Given the description of an element on the screen output the (x, y) to click on. 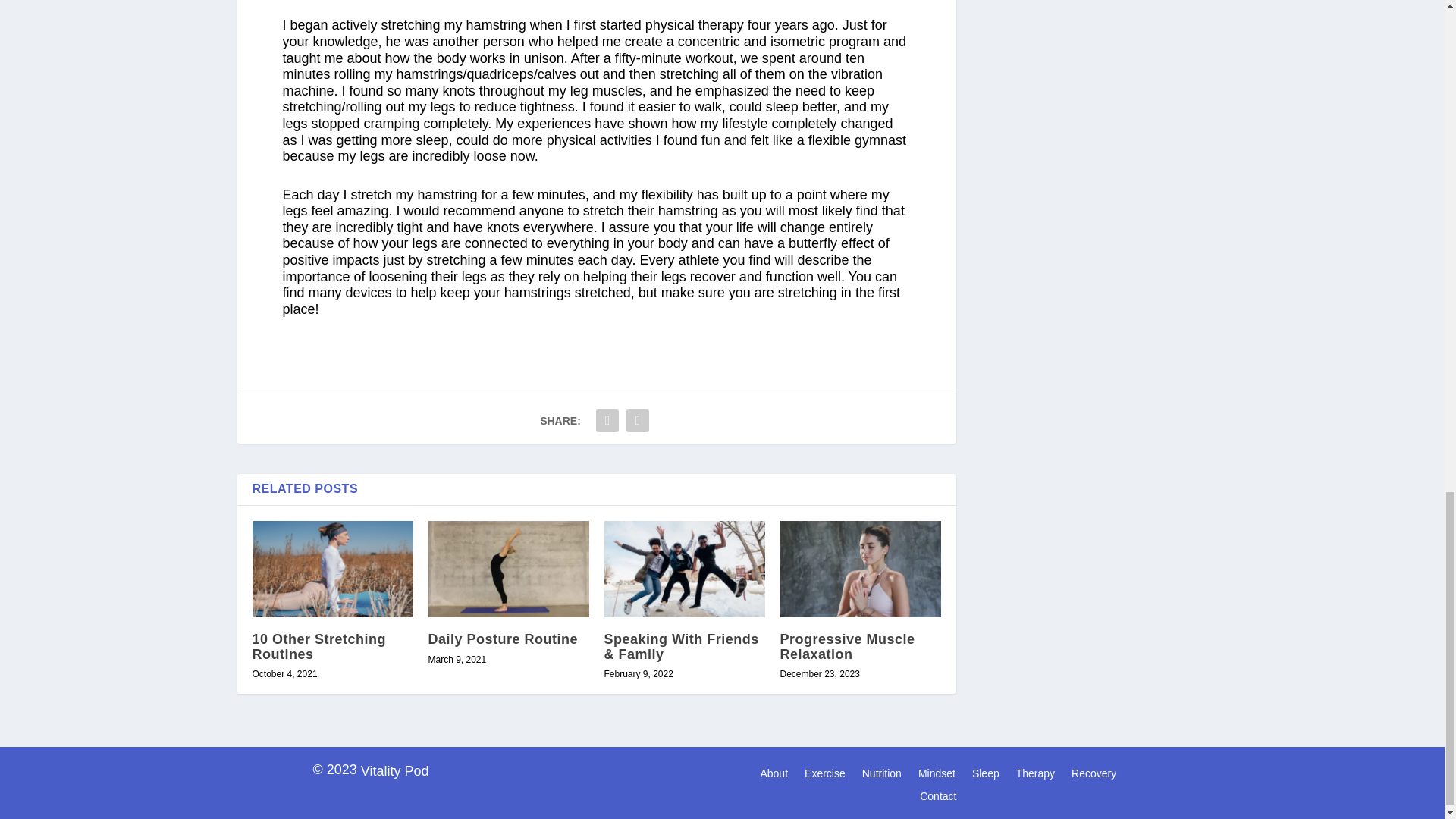
10 Other Stretching Routines (331, 568)
Progressive Muscle Relaxation (859, 568)
Daily Posture Routine (508, 568)
